Given the description of an element on the screen output the (x, y) to click on. 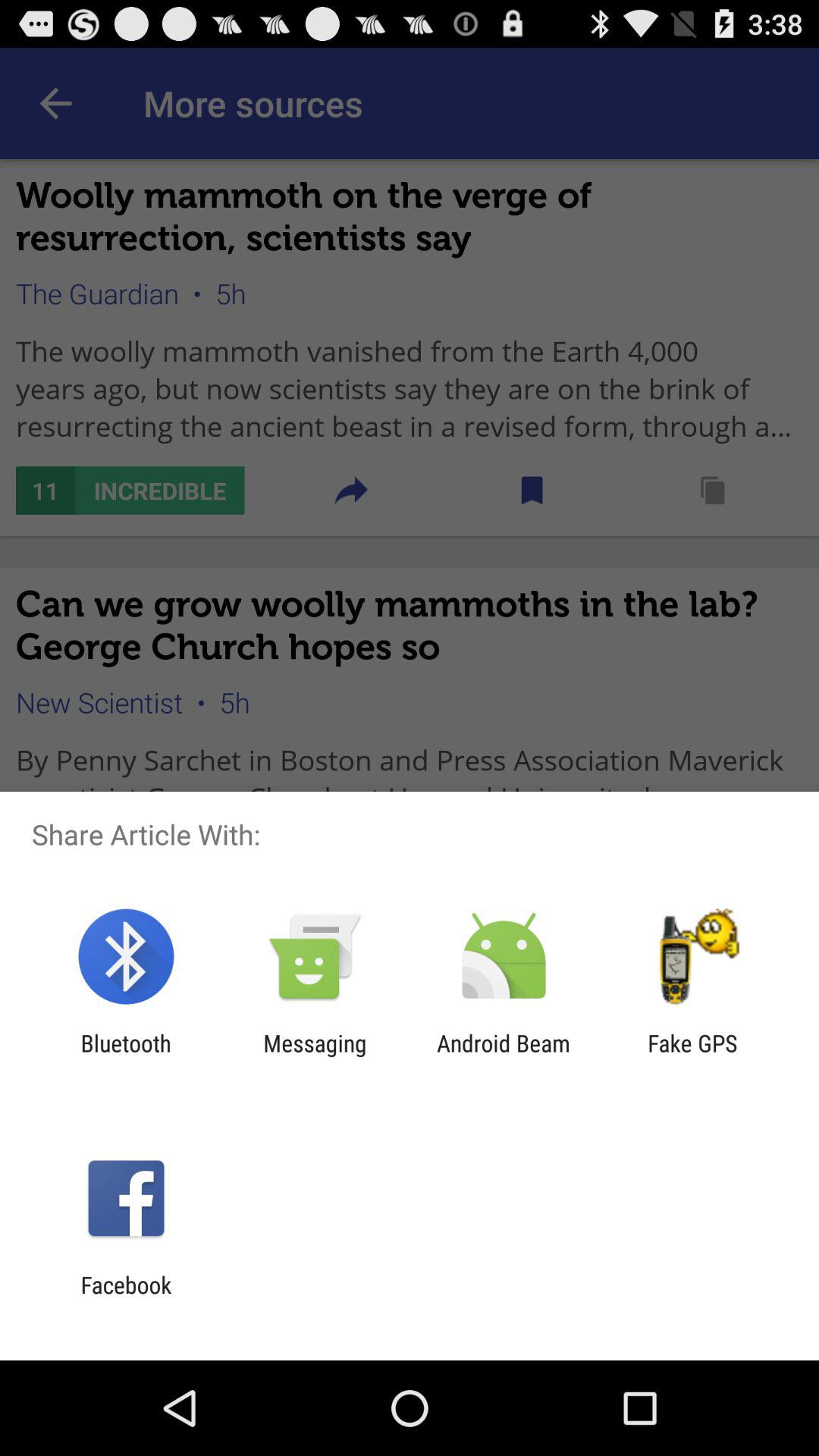
select messaging item (314, 1056)
